Given the description of an element on the screen output the (x, y) to click on. 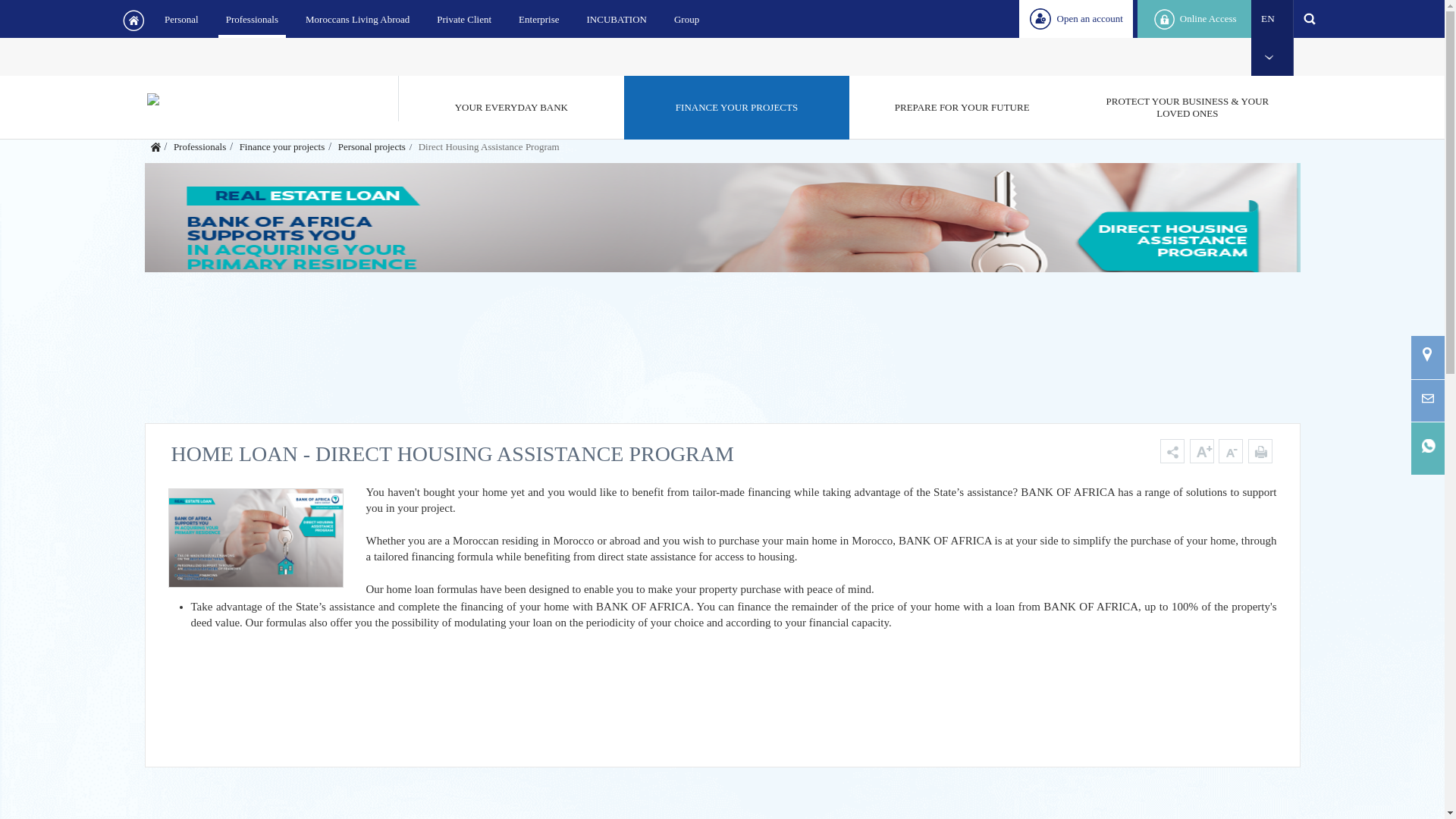
Group (686, 18)
INCUBATION (616, 18)
Private Client (464, 18)
Group (686, 18)
Moroccans Living Abroad (357, 18)
Personal (181, 18)
Online Access (1193, 18)
Professionals (251, 18)
YOUR EVERYDAY BANK (511, 107)
Open an account (1075, 18)
